Given the description of an element on the screen output the (x, y) to click on. 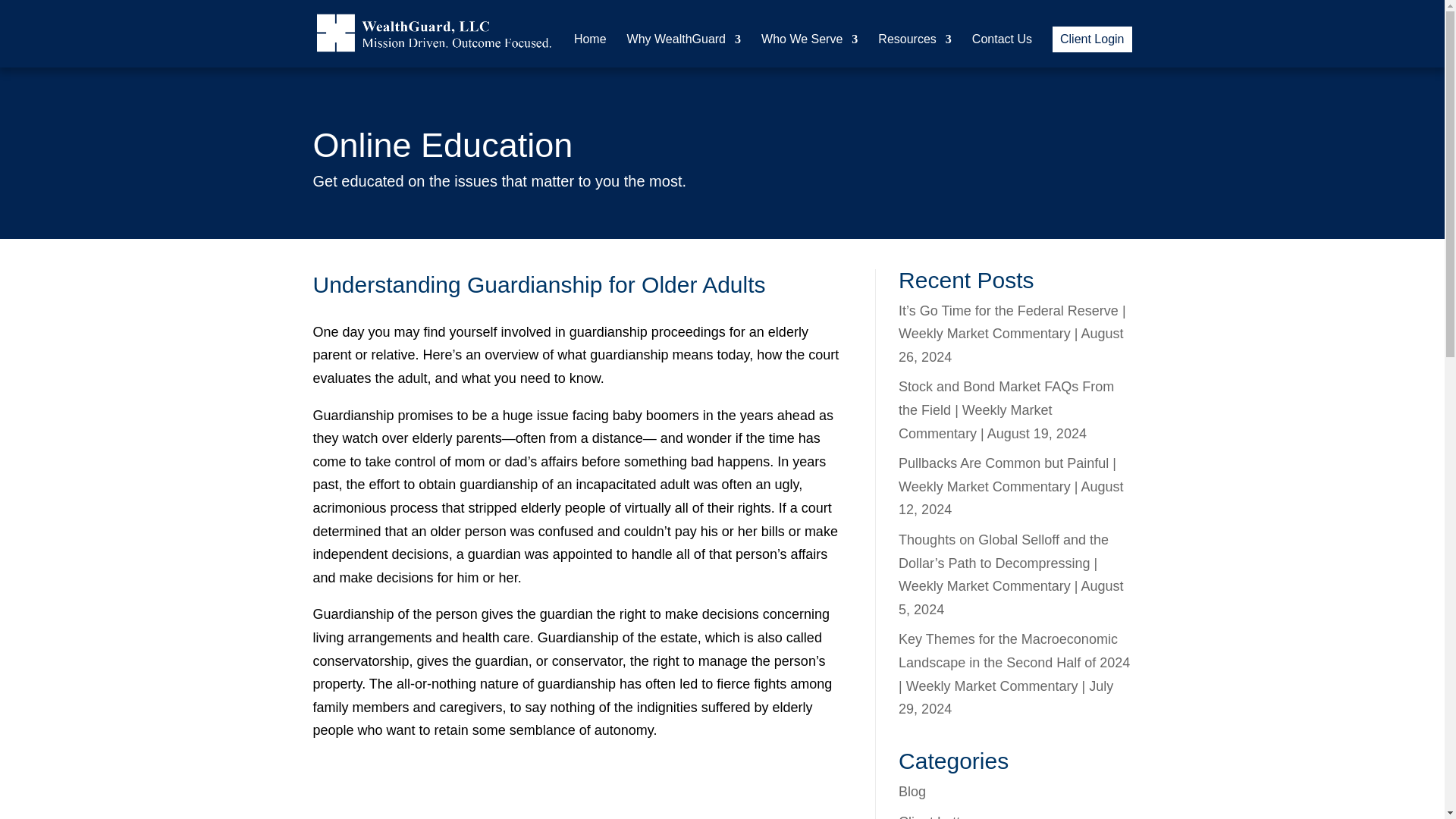
Why WealthGuard (684, 50)
Contact Us (1002, 50)
Blog (912, 791)
Client Letter (935, 816)
Client Login (1092, 39)
Home (590, 50)
Who We Serve (809, 50)
Resources (913, 50)
